Given the description of an element on the screen output the (x, y) to click on. 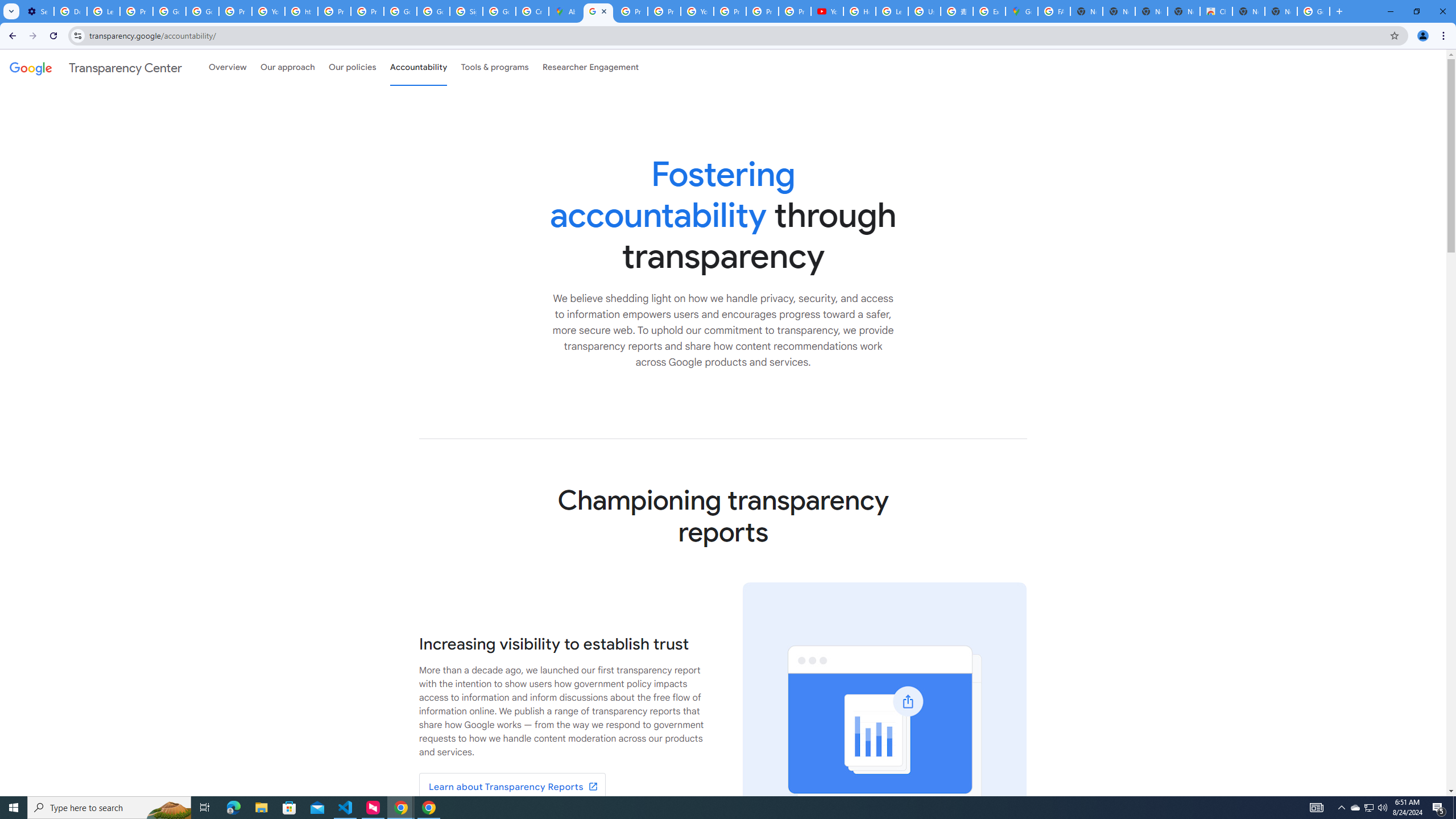
Go to Transparency Report About web page (512, 786)
Explore new street-level details - Google Maps Help (989, 11)
Tools & programs (494, 67)
Settings - On startup (37, 11)
